Given the description of an element on the screen output the (x, y) to click on. 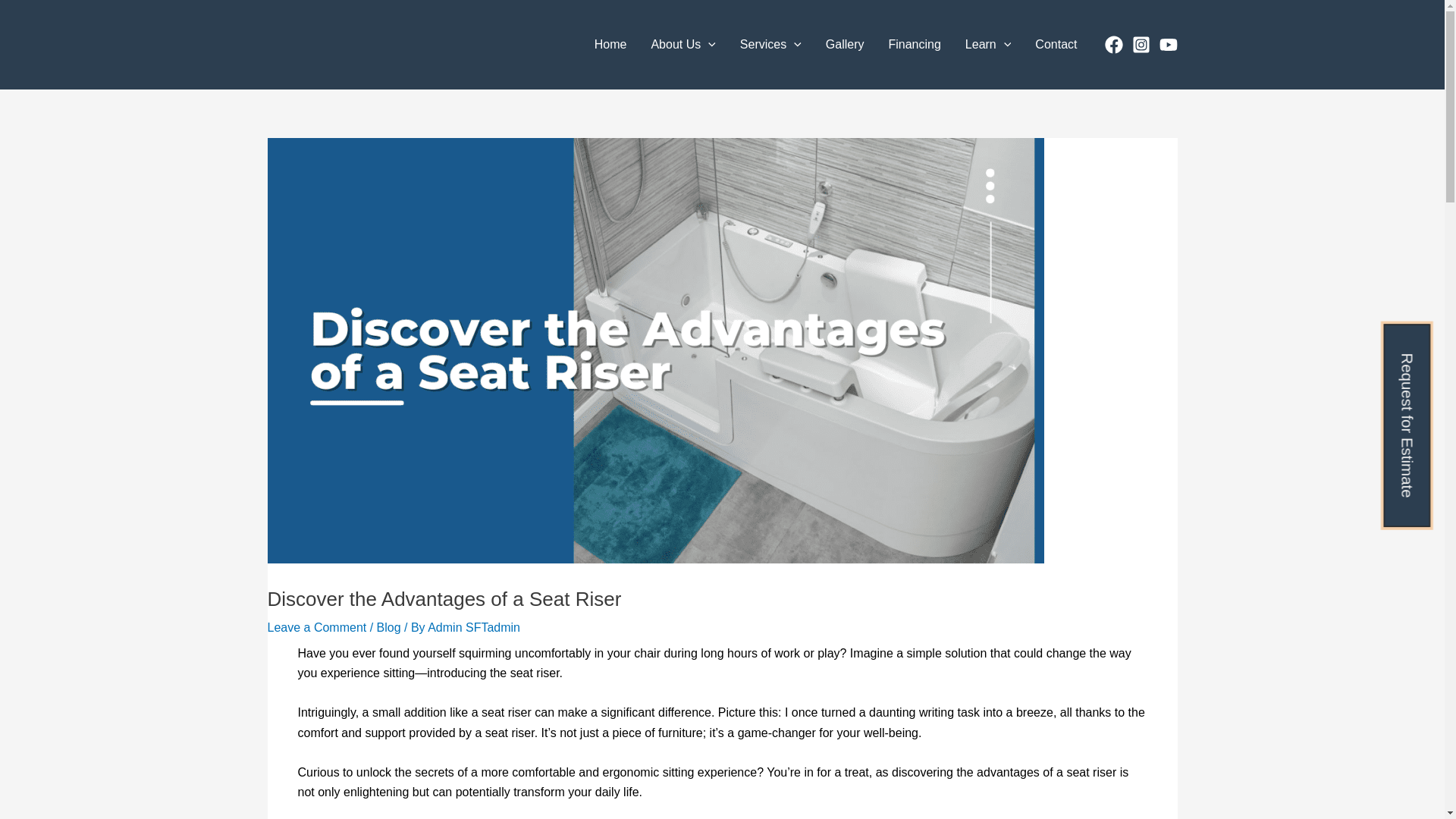
View all posts by Admin SFTadmin (473, 626)
Financing (914, 44)
About Us (682, 44)
Learn (988, 44)
Home (610, 44)
Gallery (844, 44)
Services (770, 44)
Contact (1056, 44)
